Given the description of an element on the screen output the (x, y) to click on. 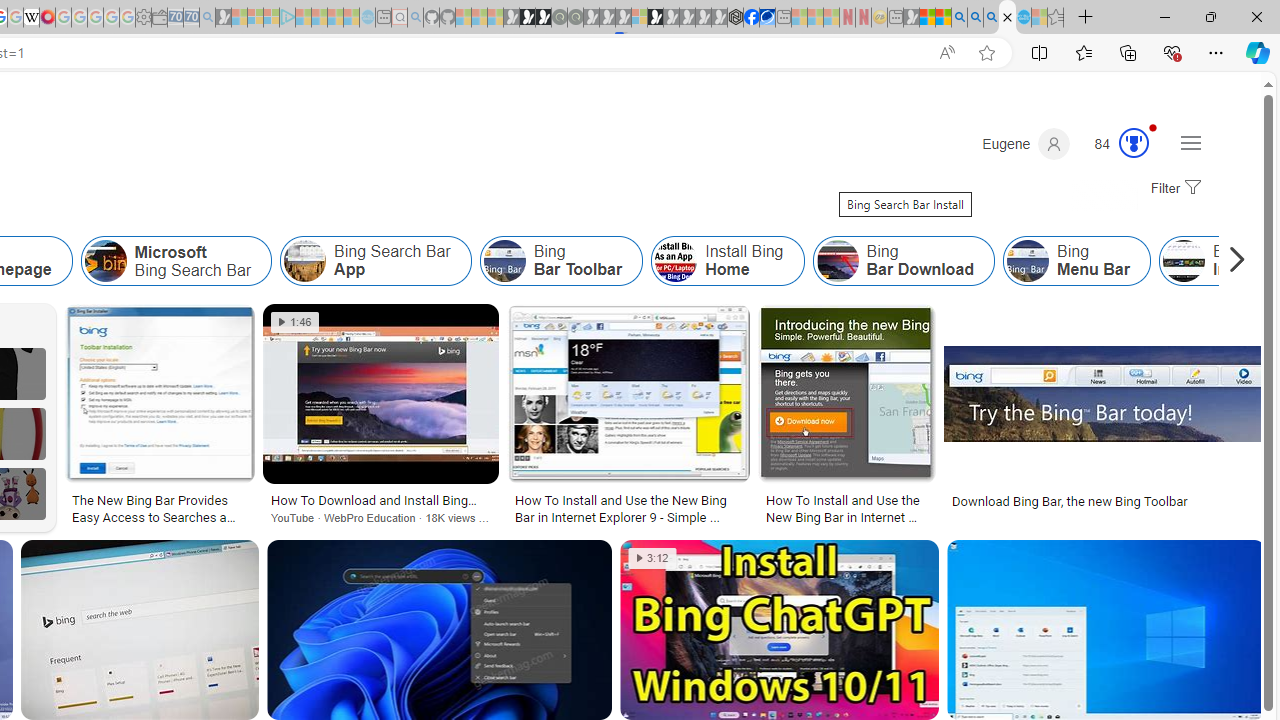
Eugene (1026, 143)
1:46 (295, 322)
MediaWiki (47, 17)
Bing Bar Download (837, 260)
Play Zoo Boom in your browser | Games from Microsoft Start (527, 17)
github - Search - Sleeping (415, 17)
Future Focus Report 2024 - Sleeping (575, 17)
